Given the description of an element on the screen output the (x, y) to click on. 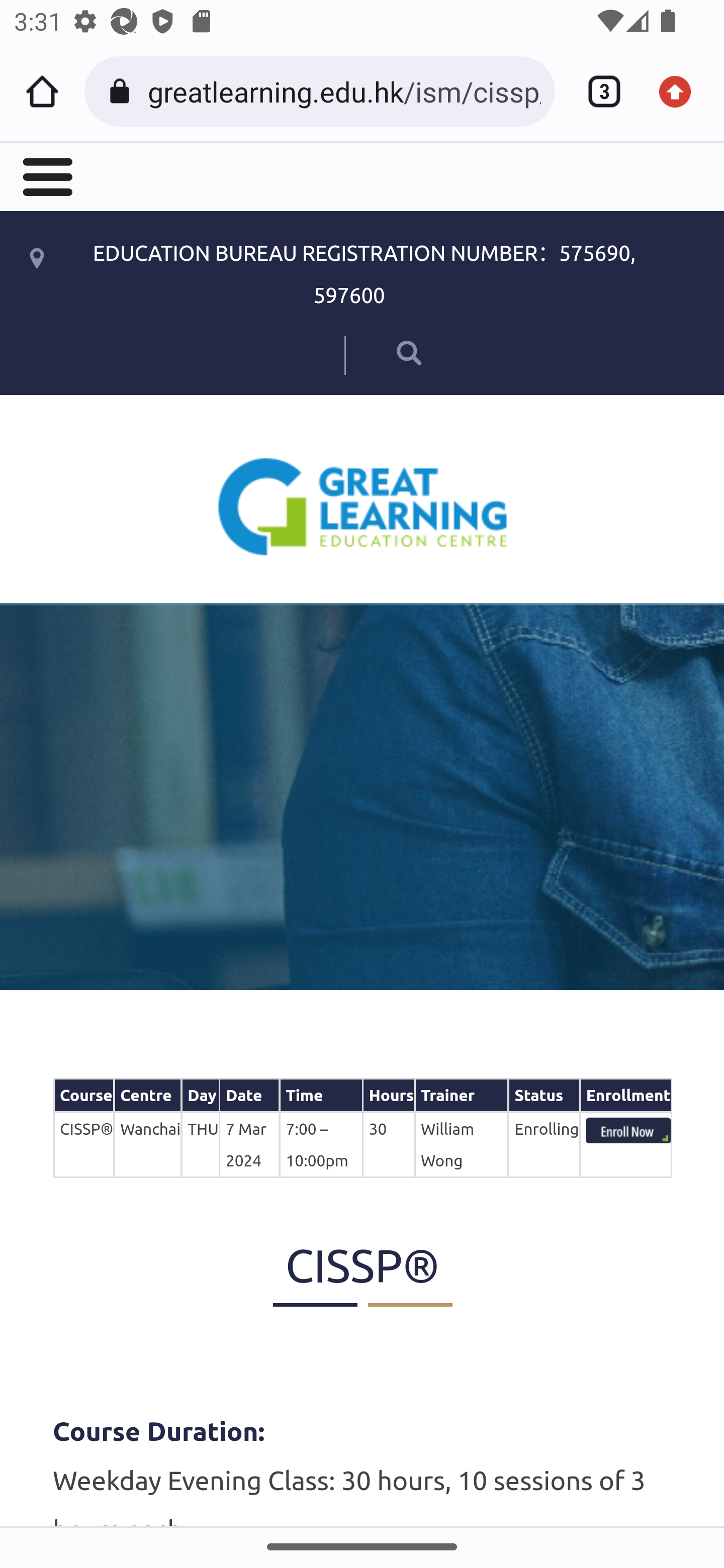
Home (42, 91)
Connection is secure (122, 91)
Switch or close tabs (597, 91)
Update available. More options (681, 91)
 (45, 175)
 (382, 351)
Welcome to Great Learning Education Centre (362, 505)
index (627, 1130)
